Given the description of an element on the screen output the (x, y) to click on. 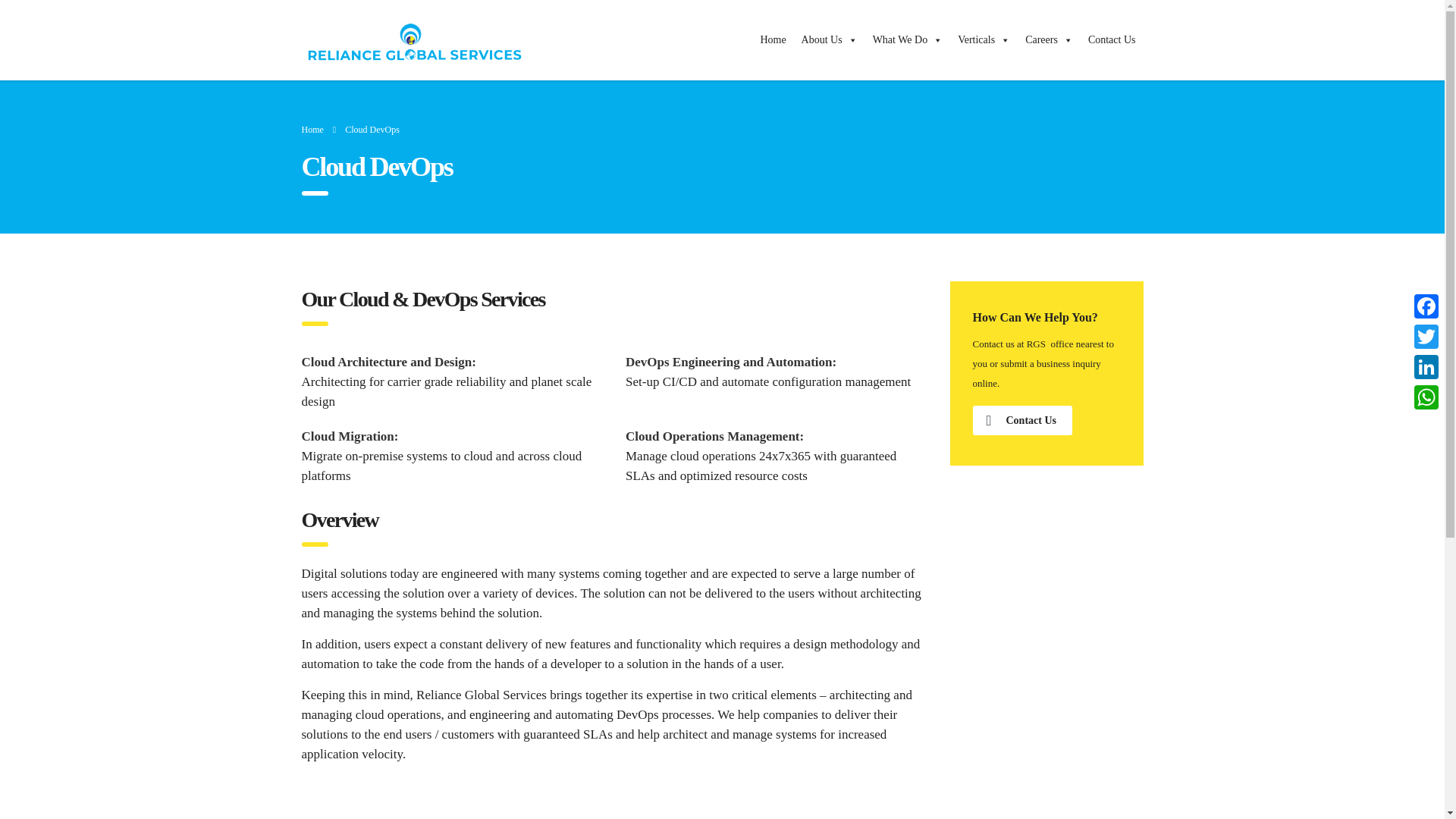
Home (772, 40)
LinkedIn (1425, 367)
Verticals (983, 40)
Twitter (1425, 336)
WhatsApp (1425, 397)
About Us (828, 40)
What We Do (907, 40)
Go to Reliance Global Services. (312, 129)
Facebook (1425, 306)
